Given the description of an element on the screen output the (x, y) to click on. 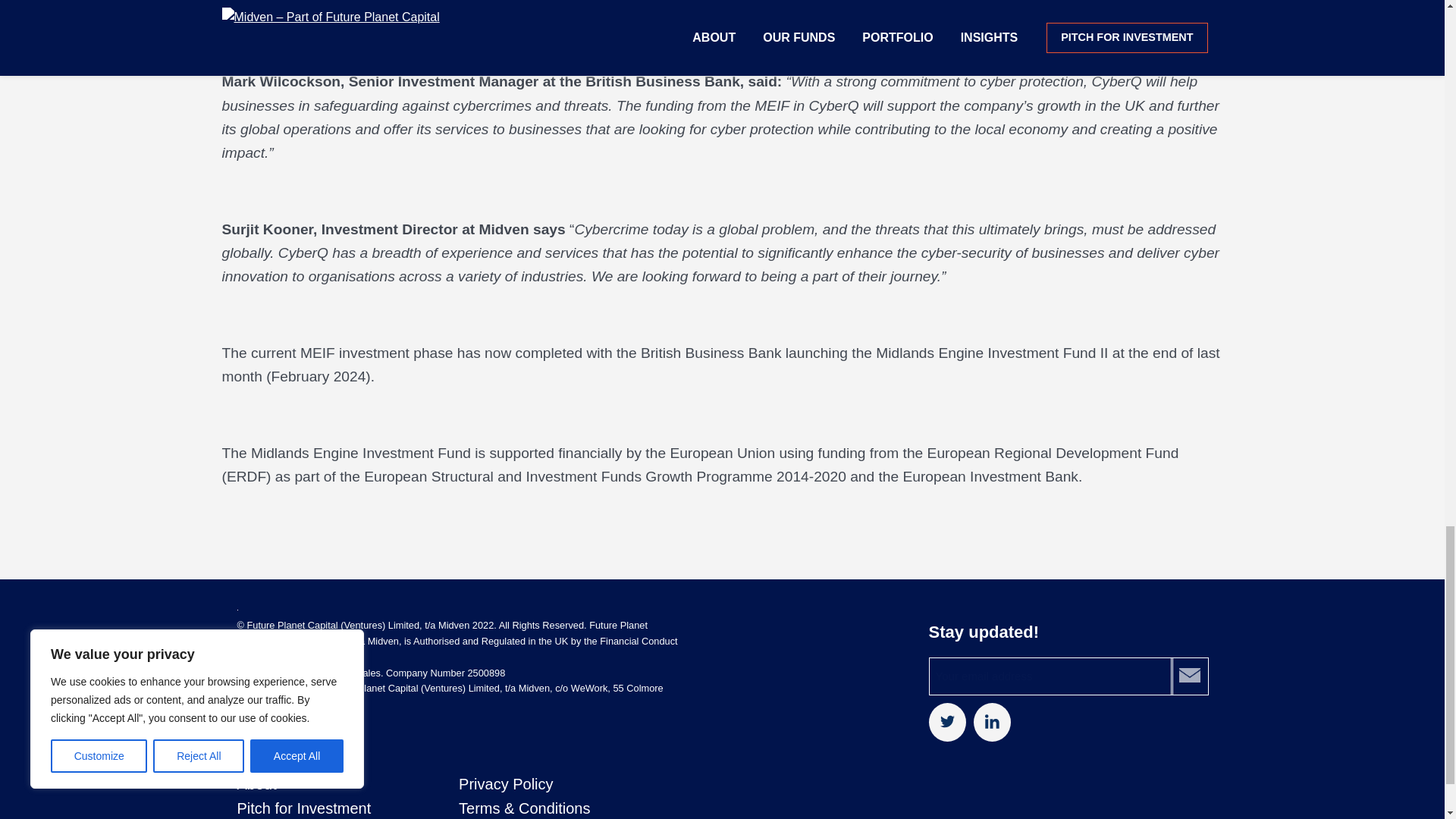
About (255, 783)
Privacy Policy (505, 783)
020 3131 0105 (307, 737)
Pitch for Investment (303, 808)
